Given the description of an element on the screen output the (x, y) to click on. 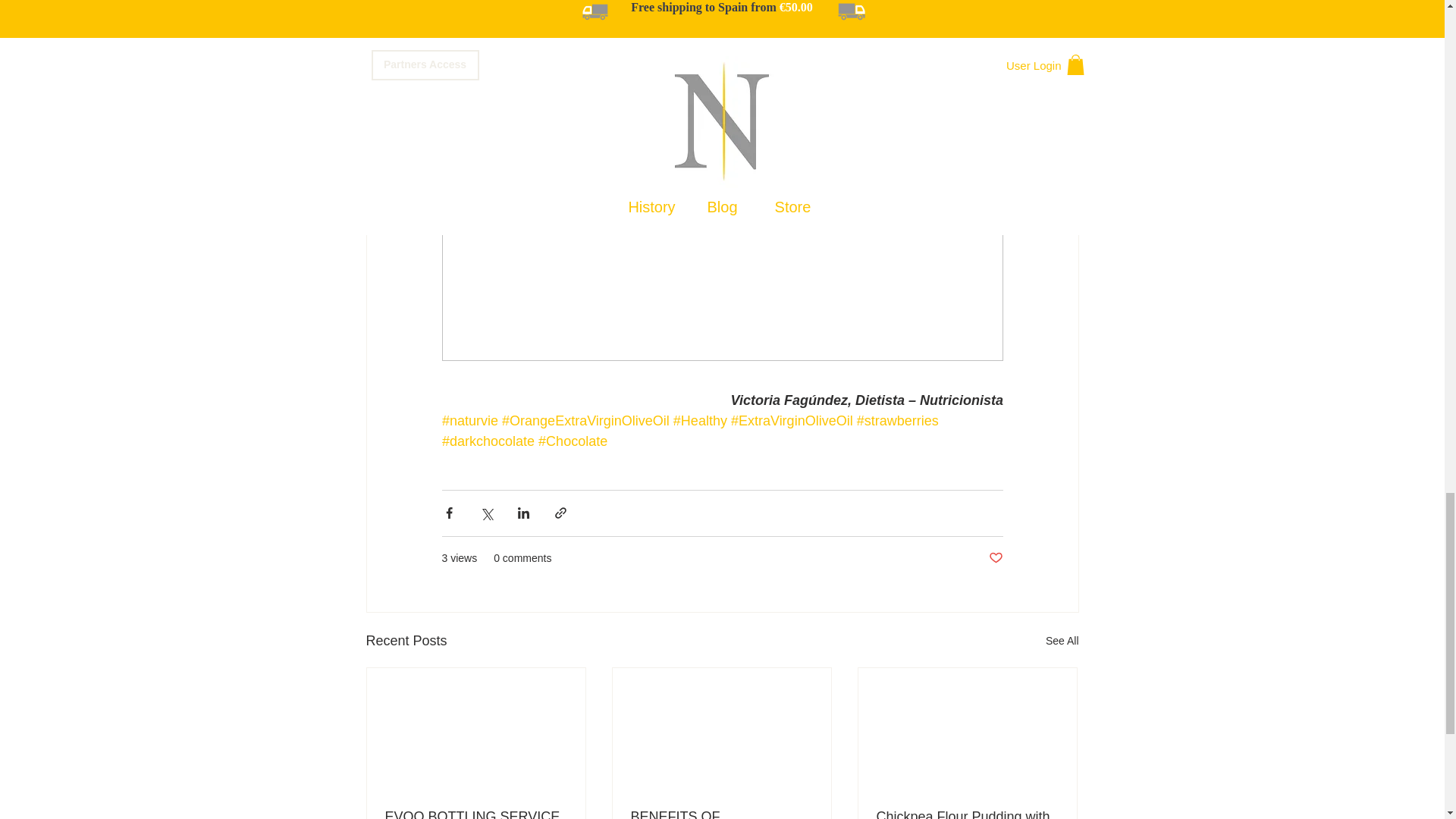
Chickpea Flour Pudding with Cornezuelo EVOO (967, 814)
See All (1061, 640)
Post not marked as liked (995, 558)
EVOO BOTTLING SERVICE TO THIRD PARTIES: NATURVIE (476, 814)
BENEFITS OF OUTSOURCING THE BOTTLING PROCESS (721, 814)
